Given the description of an element on the screen output the (x, y) to click on. 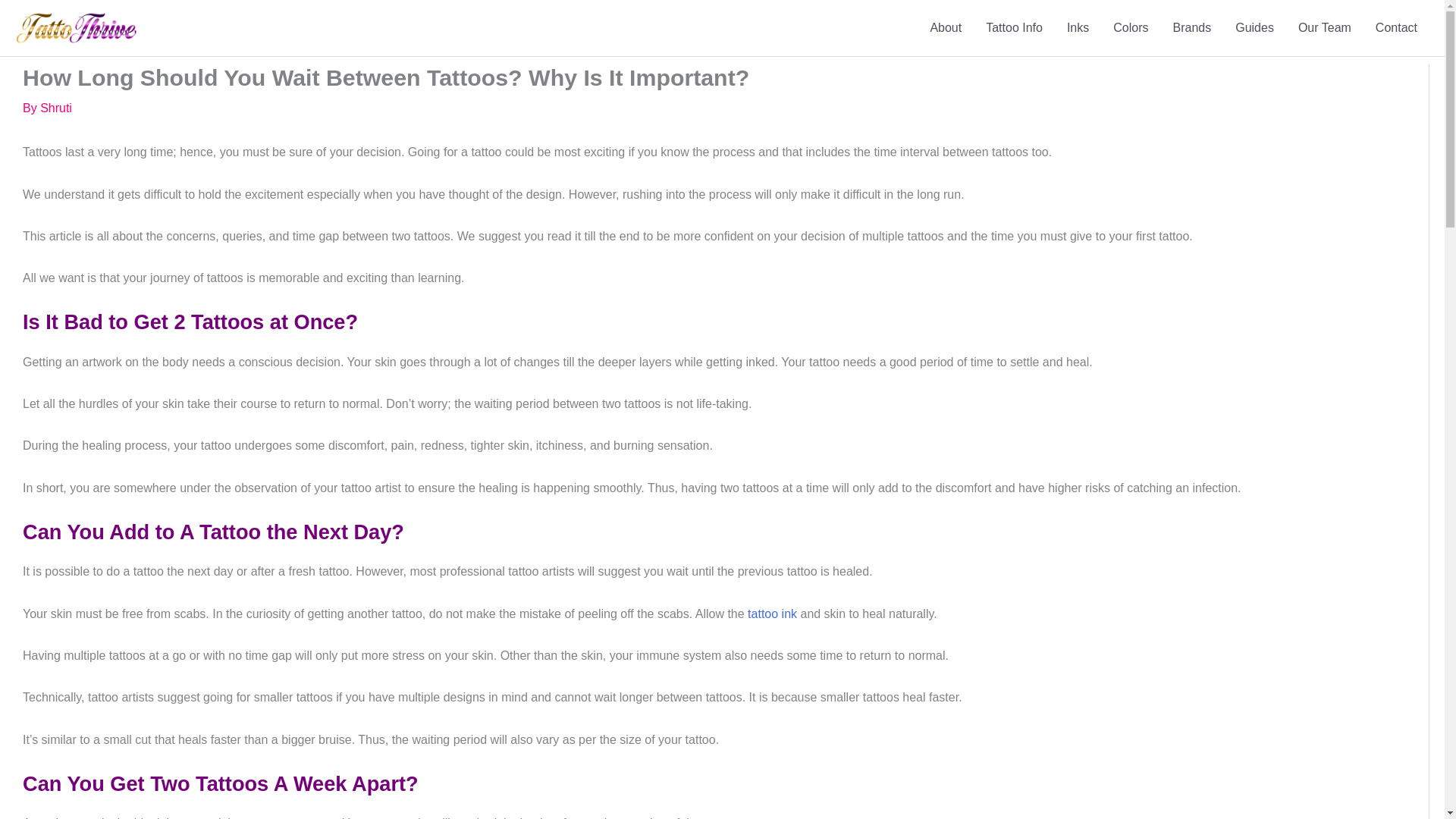
Brands (1191, 28)
a complete guide about tattoo ink (772, 613)
Tattoo Info (1014, 28)
Shruti (55, 107)
About (945, 28)
Colors (1130, 28)
View all posts by Shruti (55, 107)
tattoo ink (772, 613)
Guides (1254, 28)
Contact (1395, 28)
